Given the description of an element on the screen output the (x, y) to click on. 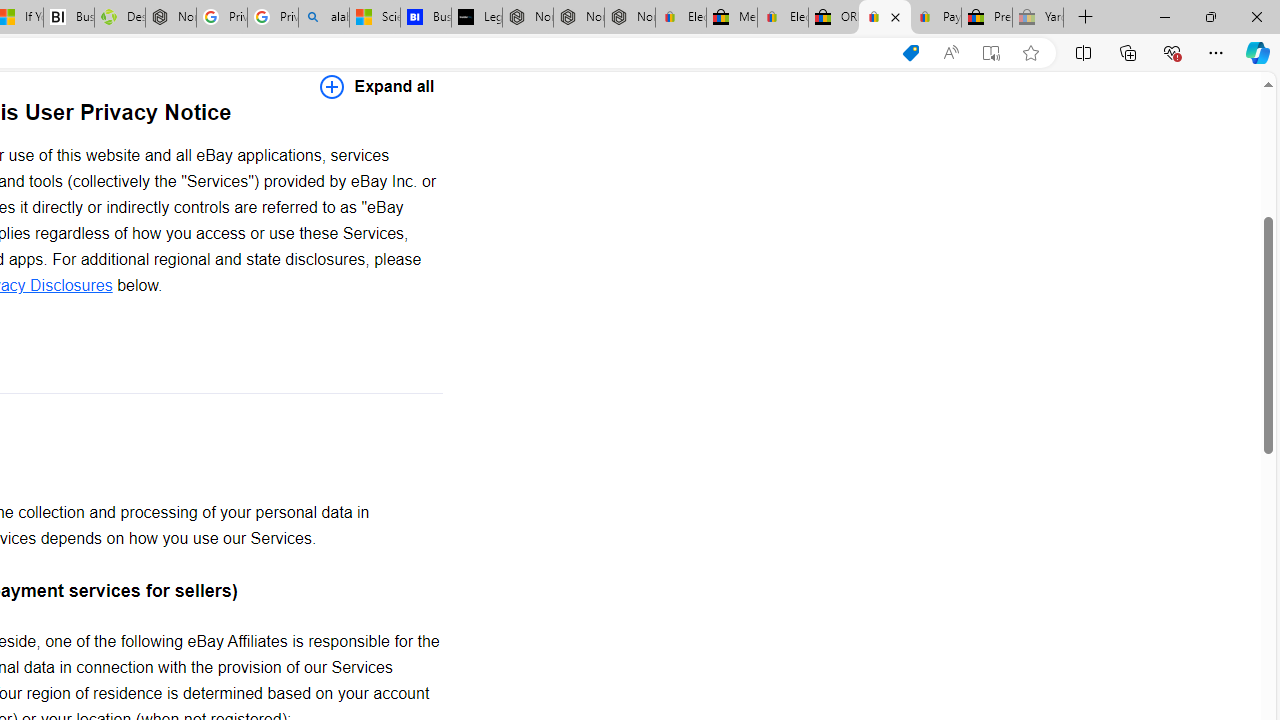
Expand all (377, 86)
Yard, Garden & Outdoor Living - Sleeping (1037, 17)
Electronics, Cars, Fashion, Collectibles & More | eBay (782, 17)
alabama high school quarterback dies - Search (324, 17)
Enter Immersive Reader (F9) (991, 53)
User Privacy Notice | eBay (885, 17)
